Given the description of an element on the screen output the (x, y) to click on. 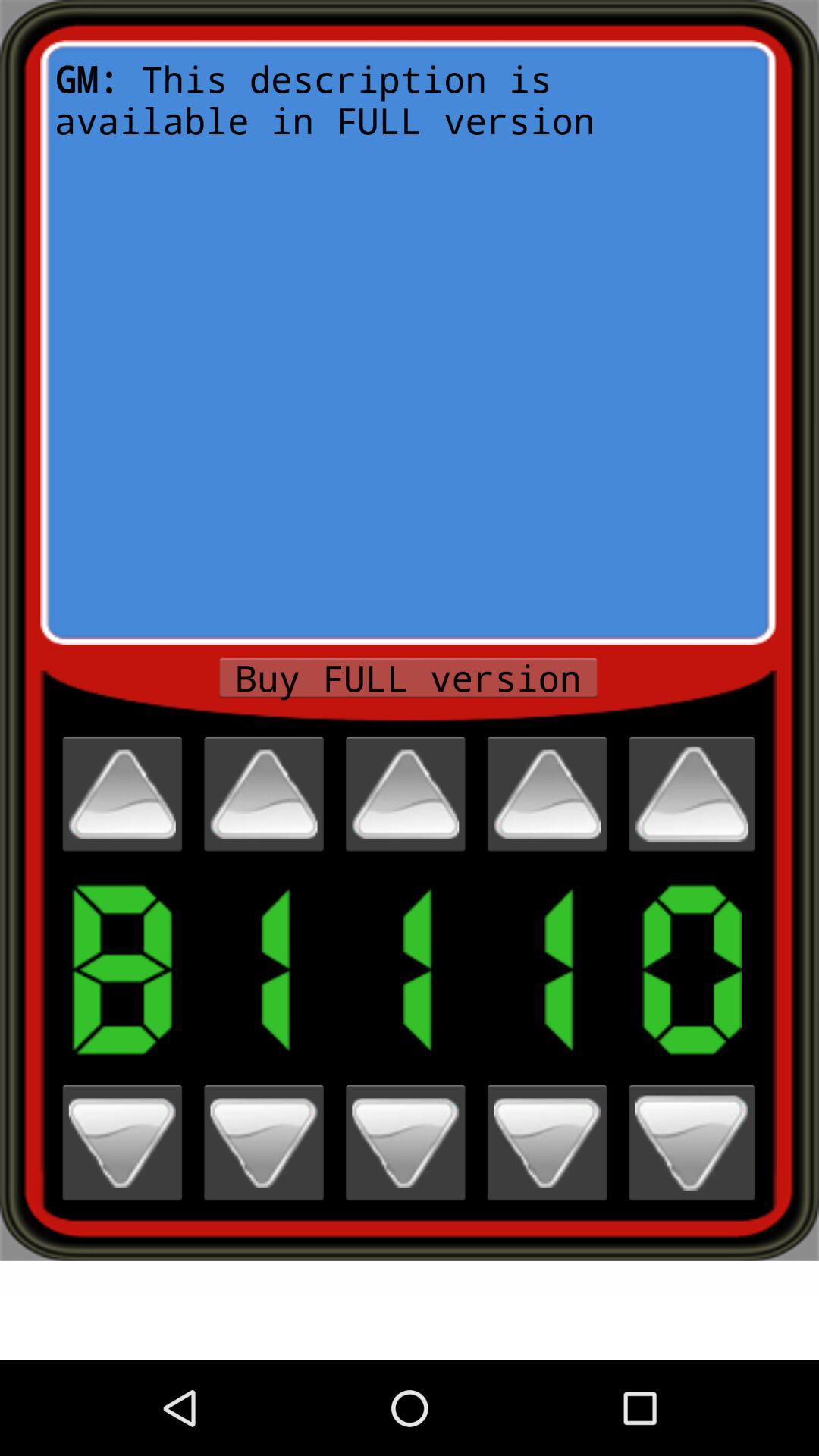
switch down option (691, 1142)
